Given the description of an element on the screen output the (x, y) to click on. 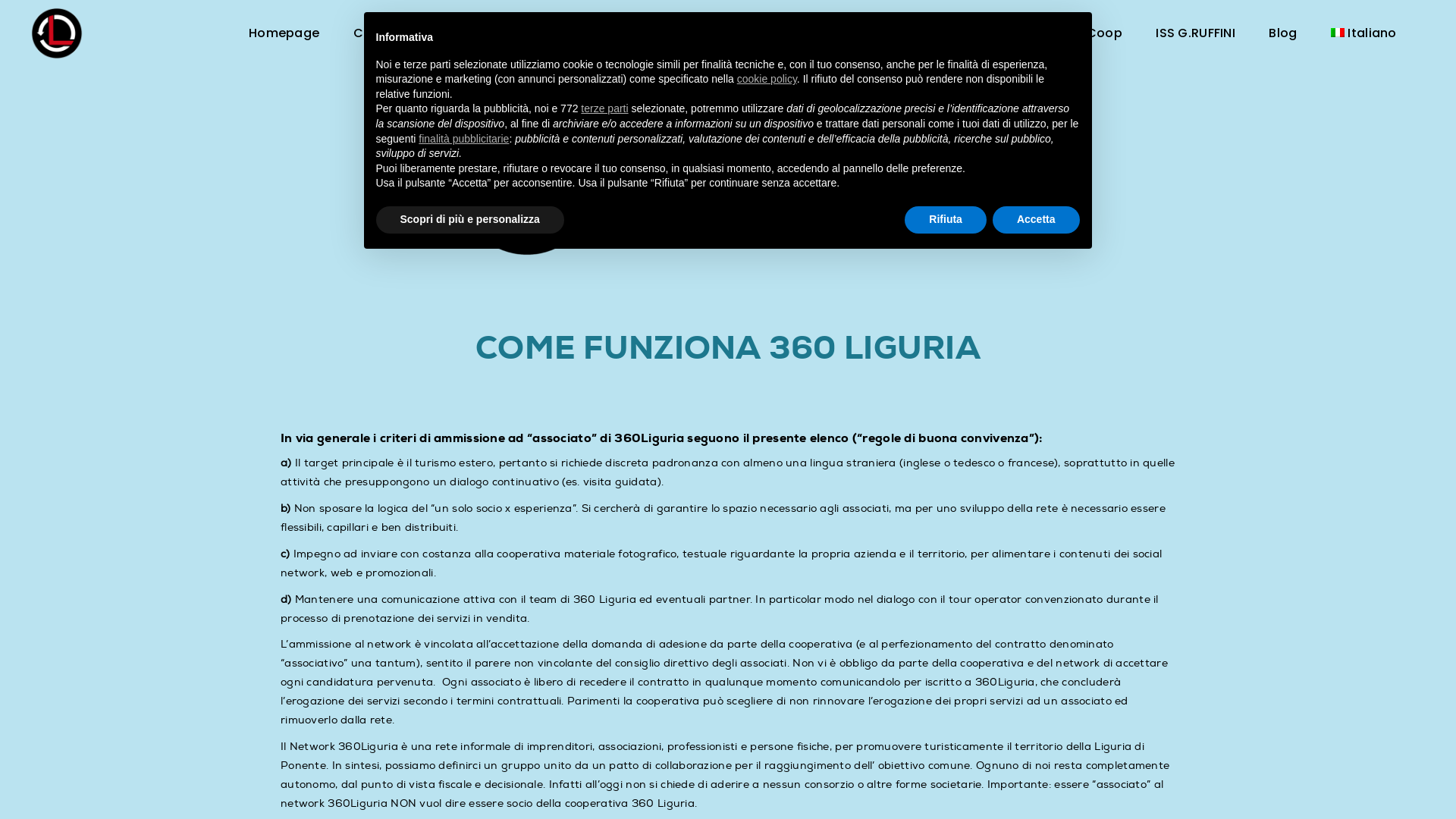
Homepage Element type: text (283, 33)
ISS G.RUFFINI Element type: text (1195, 33)
Foto e Video Element type: text (701, 33)
Italiano Element type: text (1363, 33)
terze parti Element type: text (604, 108)
Rifiuta Element type: text (946, 219)
cookie policy Element type: text (767, 78)
Amici di 360 Liguria Element type: text (835, 33)
Chi siamo Element type: text (385, 33)
Blog Element type: text (1282, 33)
Come aderire Element type: text (583, 33)
Accetta Element type: text (1035, 219)
360Liguria Coop Element type: text (1070, 33)
Contatti Element type: text (956, 33)
